Given the description of an element on the screen output the (x, y) to click on. 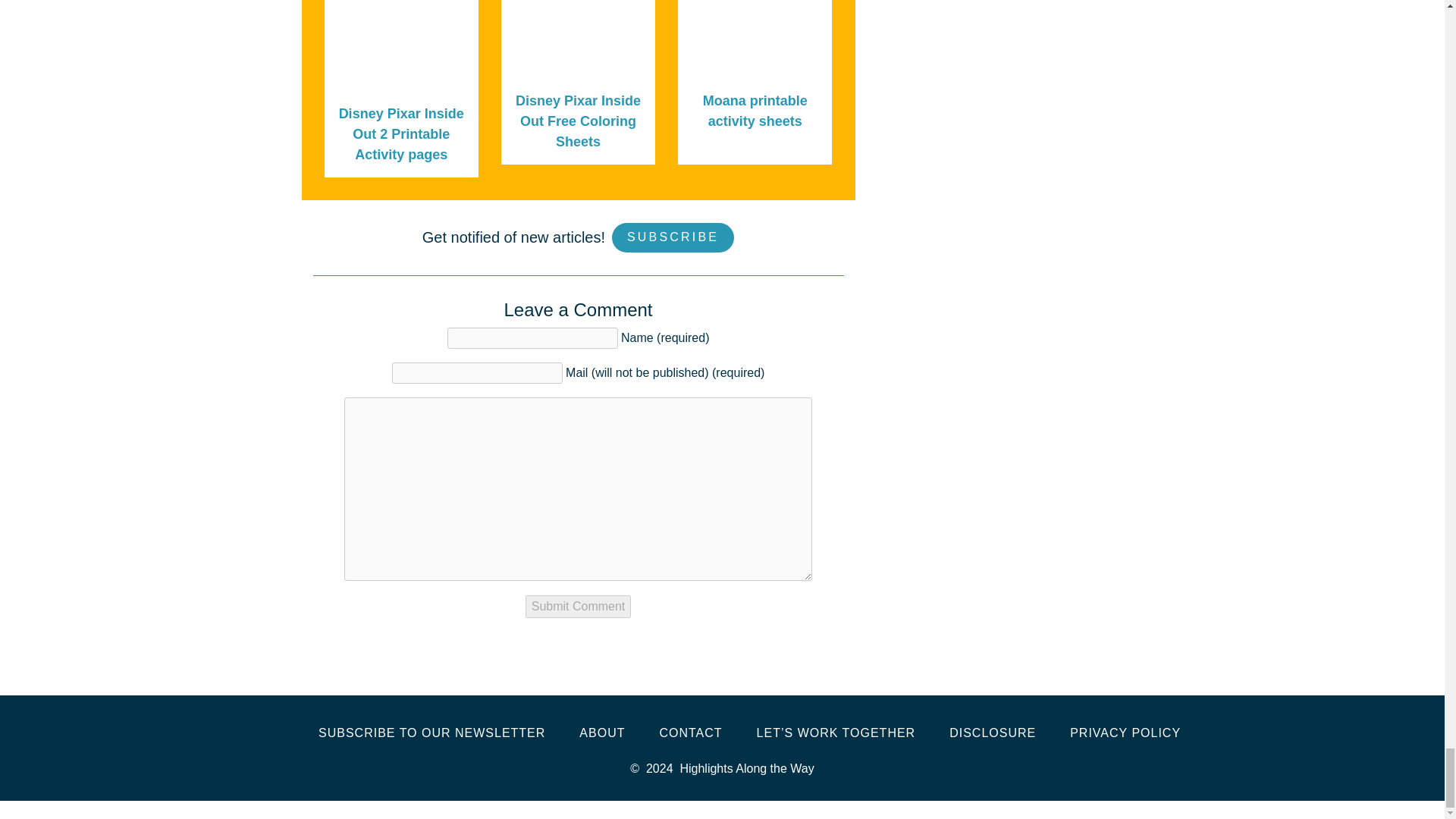
Disney Pixar Inside Out Free Coloring Sheets (577, 121)
Disney Pixar Inside Out 2 Printable Activity pages (401, 134)
Moana printable activity sheets (755, 110)
Submit Comment (578, 606)
Submit Comment (578, 606)
SUBSCRIBE TO OUR NEWSLETTER (431, 733)
SUBSCRIBE (672, 237)
